Given the description of an element on the screen output the (x, y) to click on. 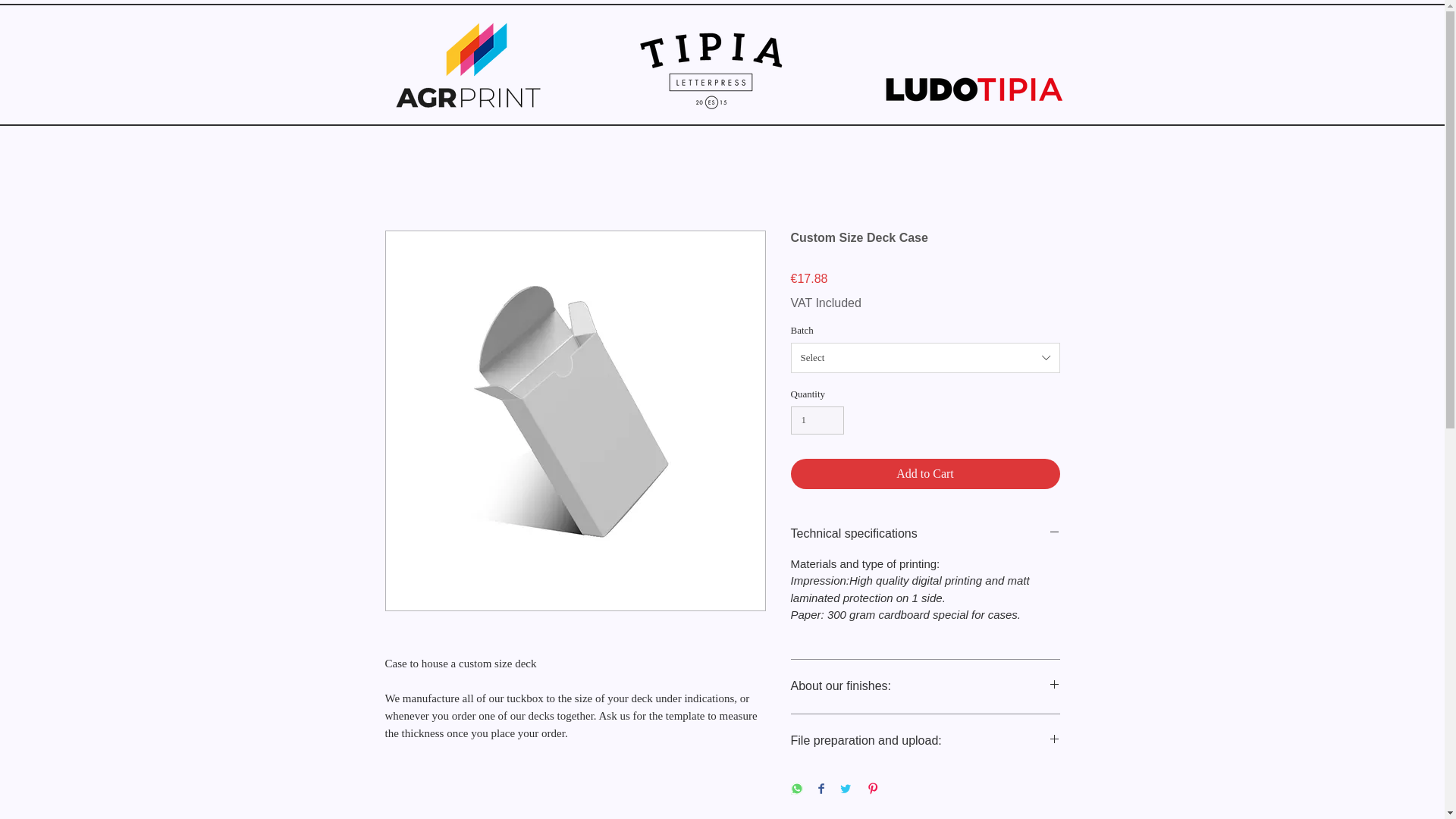
Technical specifications (924, 533)
Select (924, 358)
Add to Cart (924, 473)
File preparation and upload: (924, 740)
About our finishes: (924, 686)
1 (817, 420)
